Given the description of an element on the screen output the (x, y) to click on. 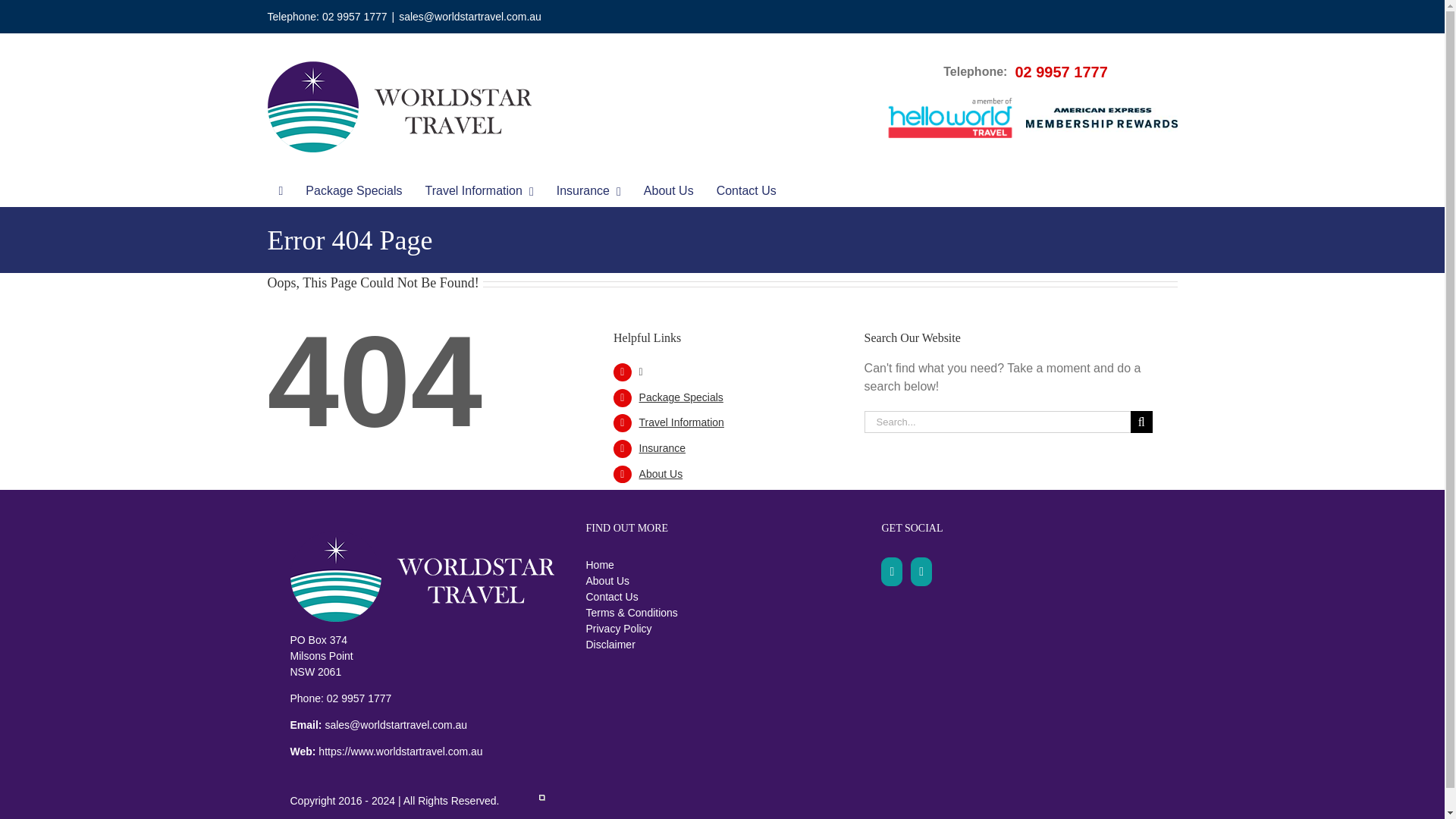
02 9957 1777 (354, 16)
02 9957 1777 (1060, 71)
Travel Information (478, 191)
Package Specials (353, 191)
Mail (921, 571)
Contact Us (745, 191)
Facebook (891, 571)
About Us (667, 191)
Insurance (587, 191)
